Given the description of an element on the screen output the (x, y) to click on. 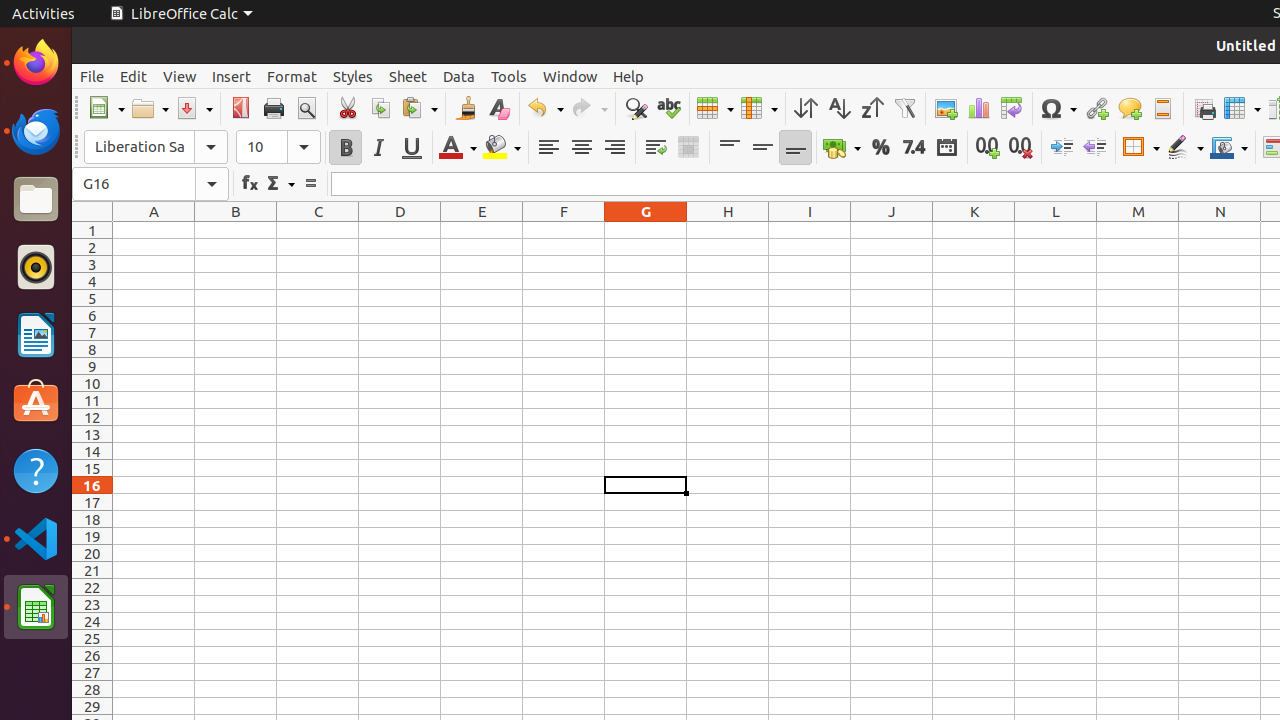
Ubuntu Software Element type: push-button (36, 402)
M1 Element type: table-cell (1138, 230)
L1 Element type: table-cell (1056, 230)
Merge and Center Cells Element type: push-button (688, 147)
J1 Element type: table-cell (892, 230)
